Given the description of an element on the screen output the (x, y) to click on. 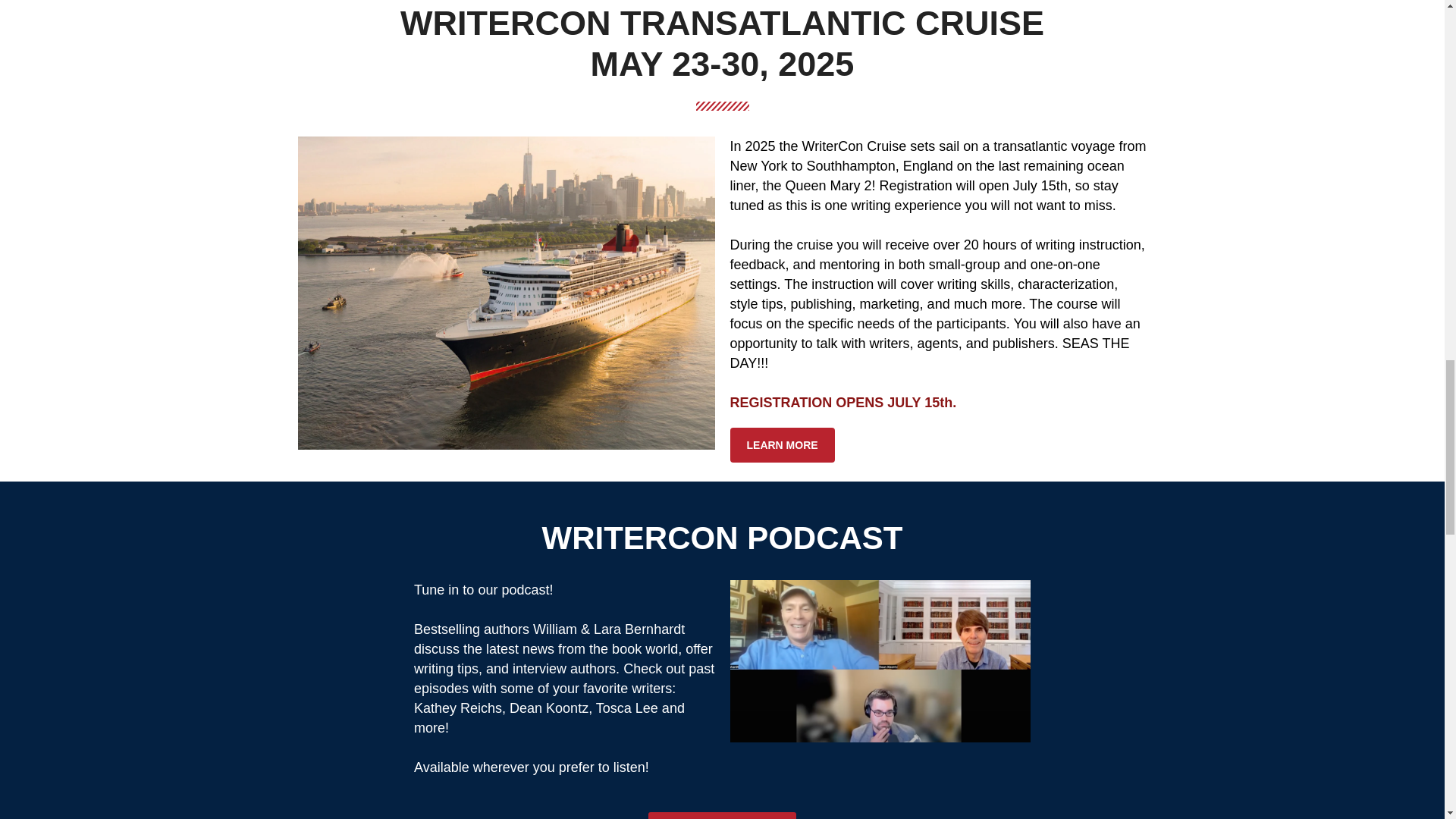
FIND EPISODES HERE (721, 815)
LEARN MORE (781, 444)
